Given the description of an element on the screen output the (x, y) to click on. 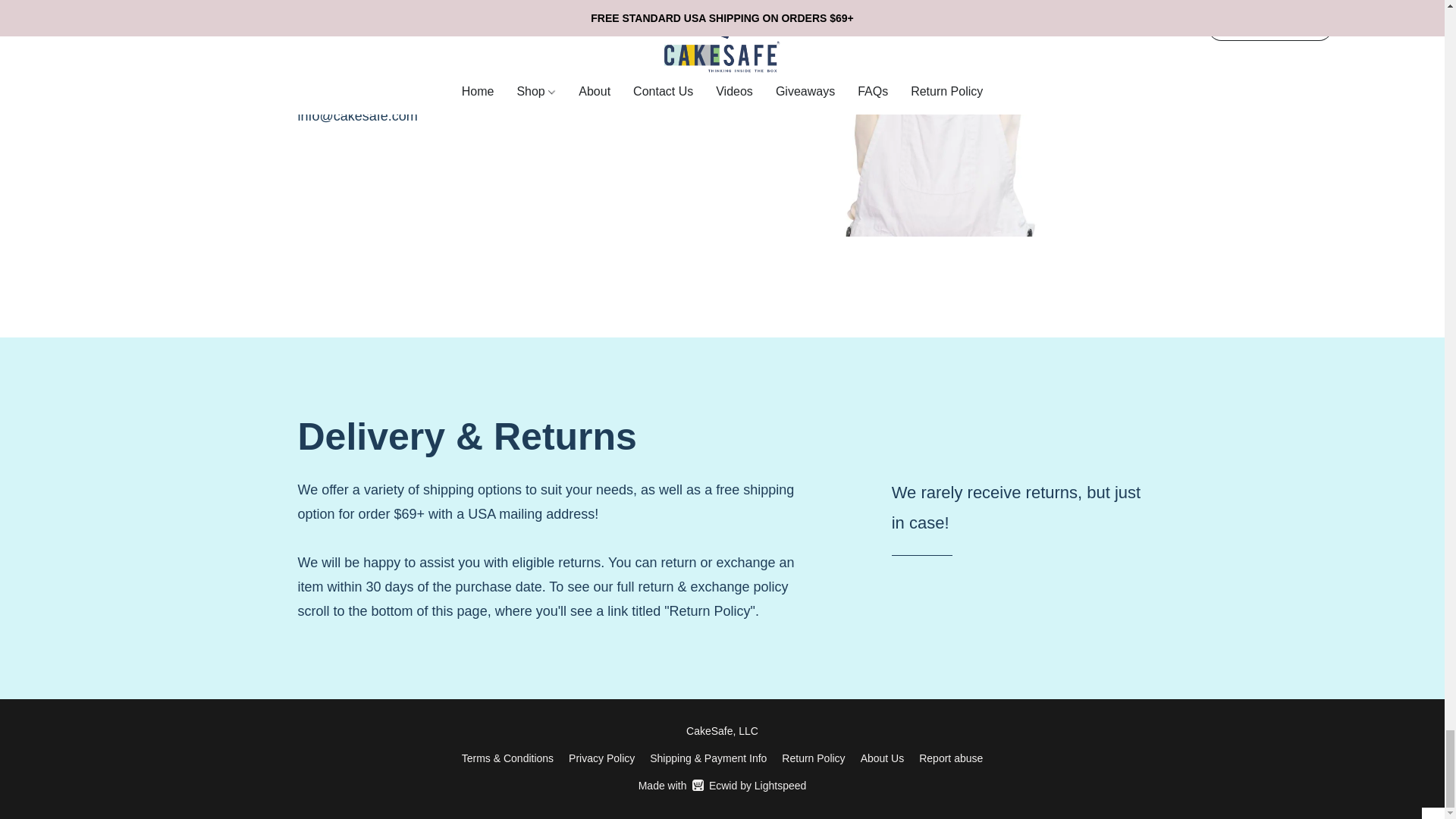
Facebook (313, 170)
About Us (882, 758)
Return Policy (812, 758)
Instagram (358, 170)
TikTok (405, 170)
Report abuse (722, 785)
Privacy Policy (950, 758)
Get directions (601, 758)
